Given the description of an element on the screen output the (x, y) to click on. 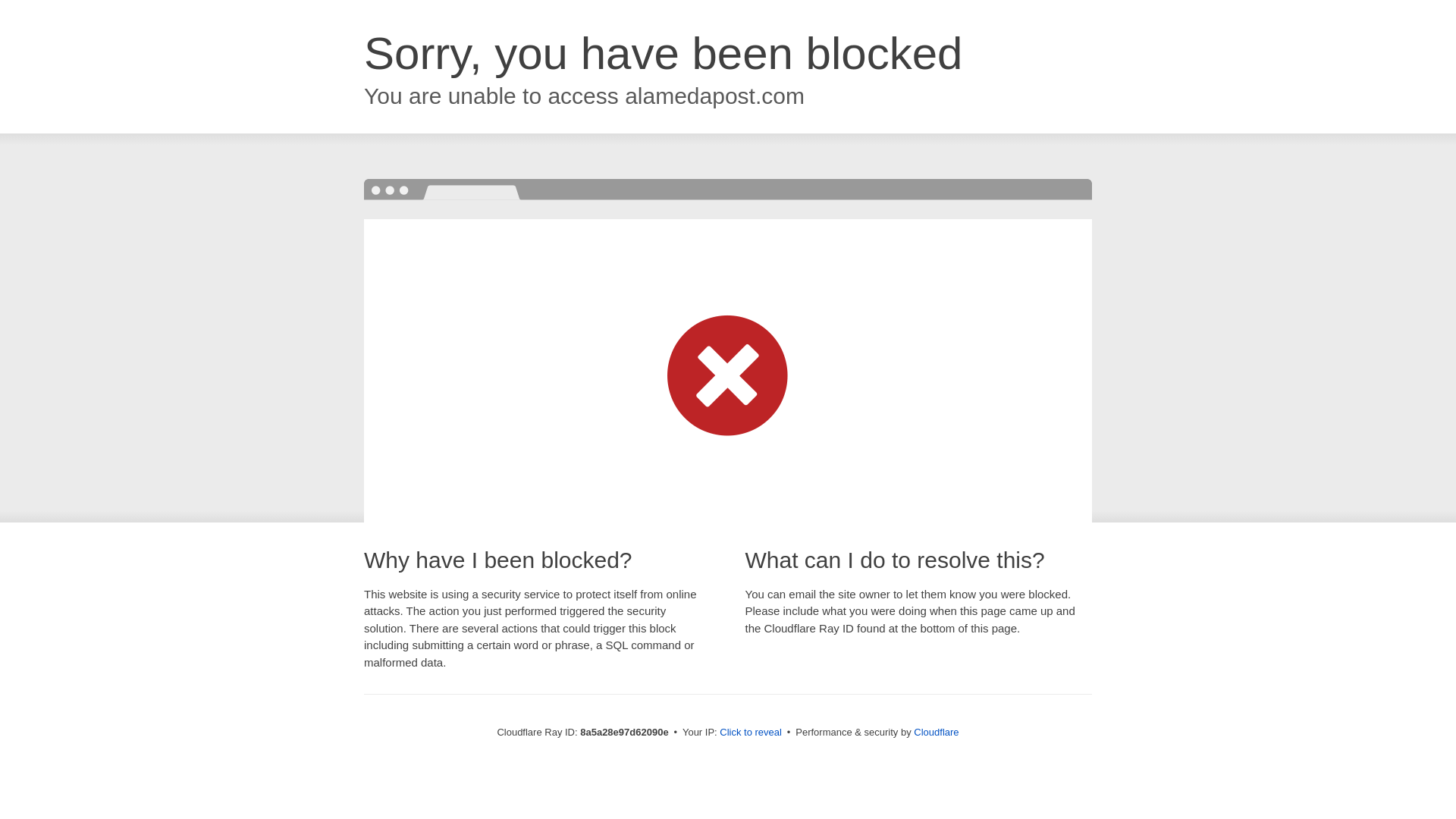
Click to reveal (750, 732)
Cloudflare (936, 731)
